Given the description of an element on the screen output the (x, y) to click on. 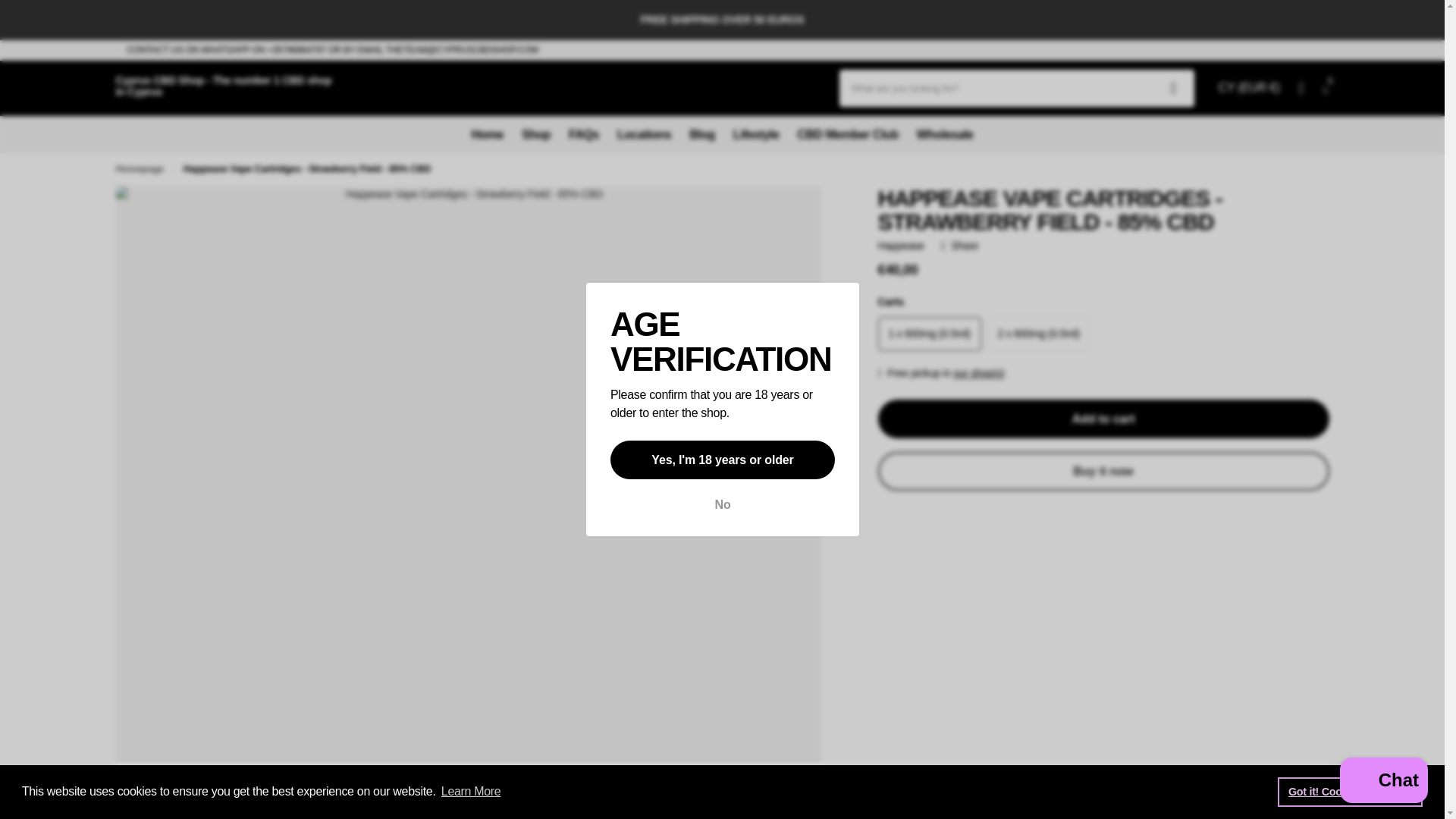
Learn More (471, 791)
Got it! Cookies nom nom (1350, 791)
Home (139, 168)
Shopify online store chat (1383, 781)
